Given the description of an element on the screen output the (x, y) to click on. 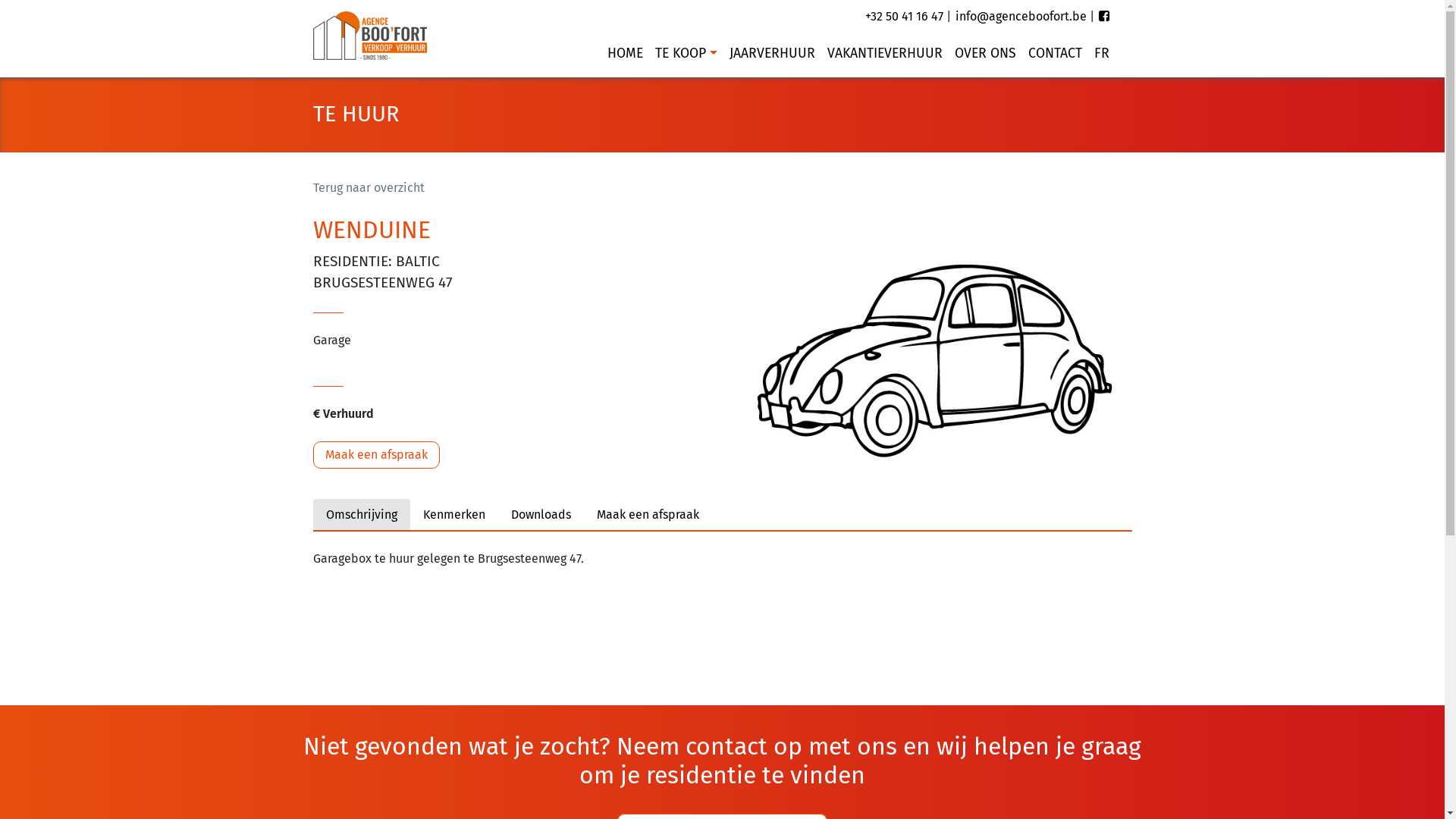
OVER ONS Element type: text (984, 53)
+32 50 41 16 47 Element type: text (903, 16)
TE KOOP Element type: text (685, 53)
VAKANTIEVERHUUR Element type: text (883, 53)
Doorgaan naar inhoud Element type: text (1443, 0)
info@agenceboofort.be Element type: text (1020, 16)
Omschrijving Element type: text (360, 514)
Terug naar overzicht Element type: text (367, 187)
Downloads Element type: text (540, 514)
JAARVERHUUR Element type: text (772, 53)
TE HUUR Element type: text (355, 113)
Maak een afspraak Element type: text (647, 514)
CONTACT Element type: text (1055, 53)
Kenmerken Element type: text (453, 514)
Maak een afspraak Element type: text (375, 454)
FR Element type: text (1097, 53)
HOME Element type: text (625, 53)
